Given the description of an element on the screen output the (x, y) to click on. 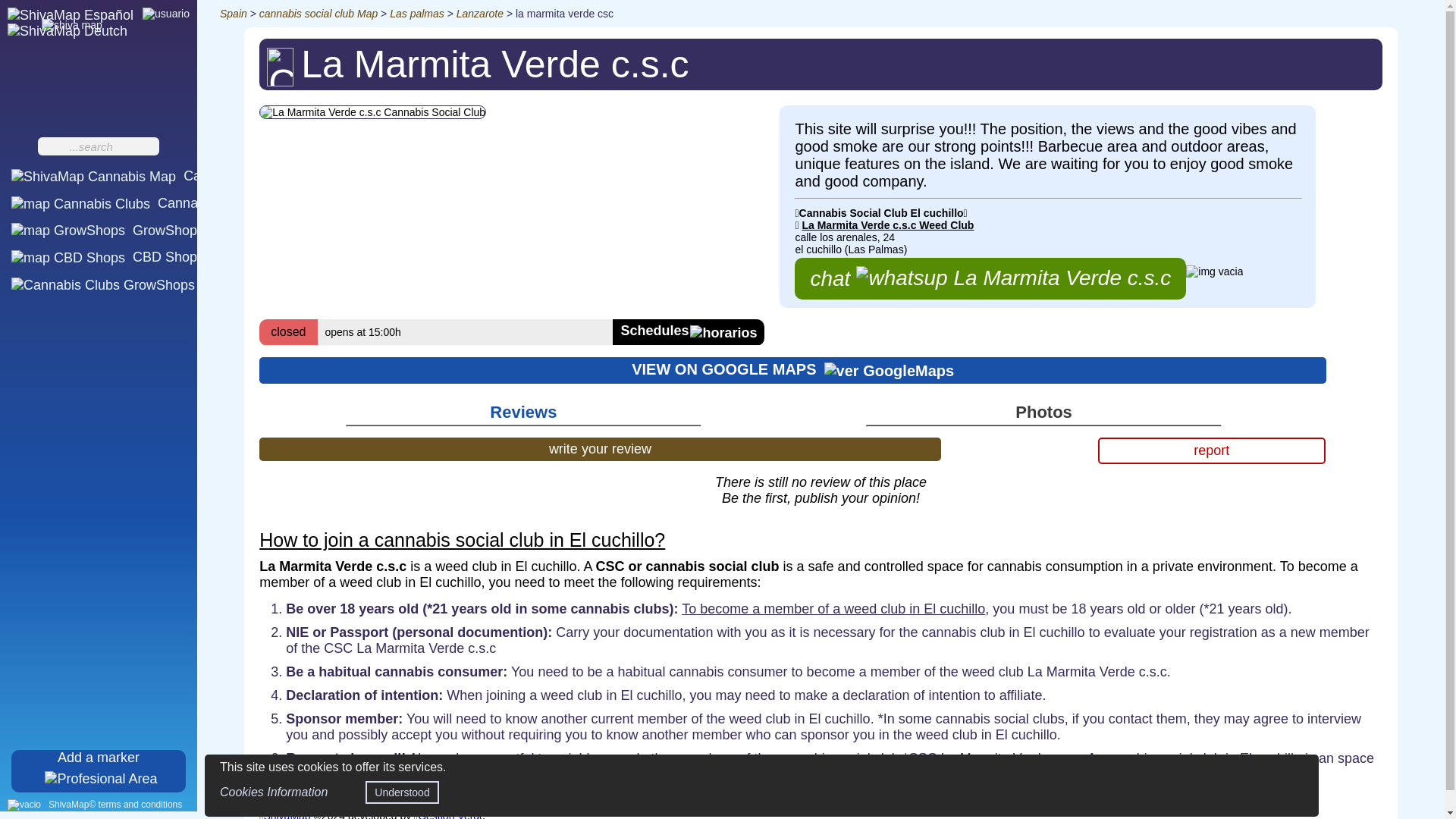
Cookies Information (273, 792)
La Marmita Verde c.s.c GoogleMaps (792, 369)
Add a marker (98, 771)
Cannabis Clubs (132, 202)
GrowShops (107, 230)
terms and conditions (115, 804)
Spain (233, 13)
List Markers (194, 283)
List Markers (194, 283)
Cannabis Map (140, 175)
cannabis social club Map (318, 13)
chat (990, 278)
cannabis social club Map Spain (318, 13)
VIEW ON GOOGLE MAPS (792, 369)
